Given the description of an element on the screen output the (x, y) to click on. 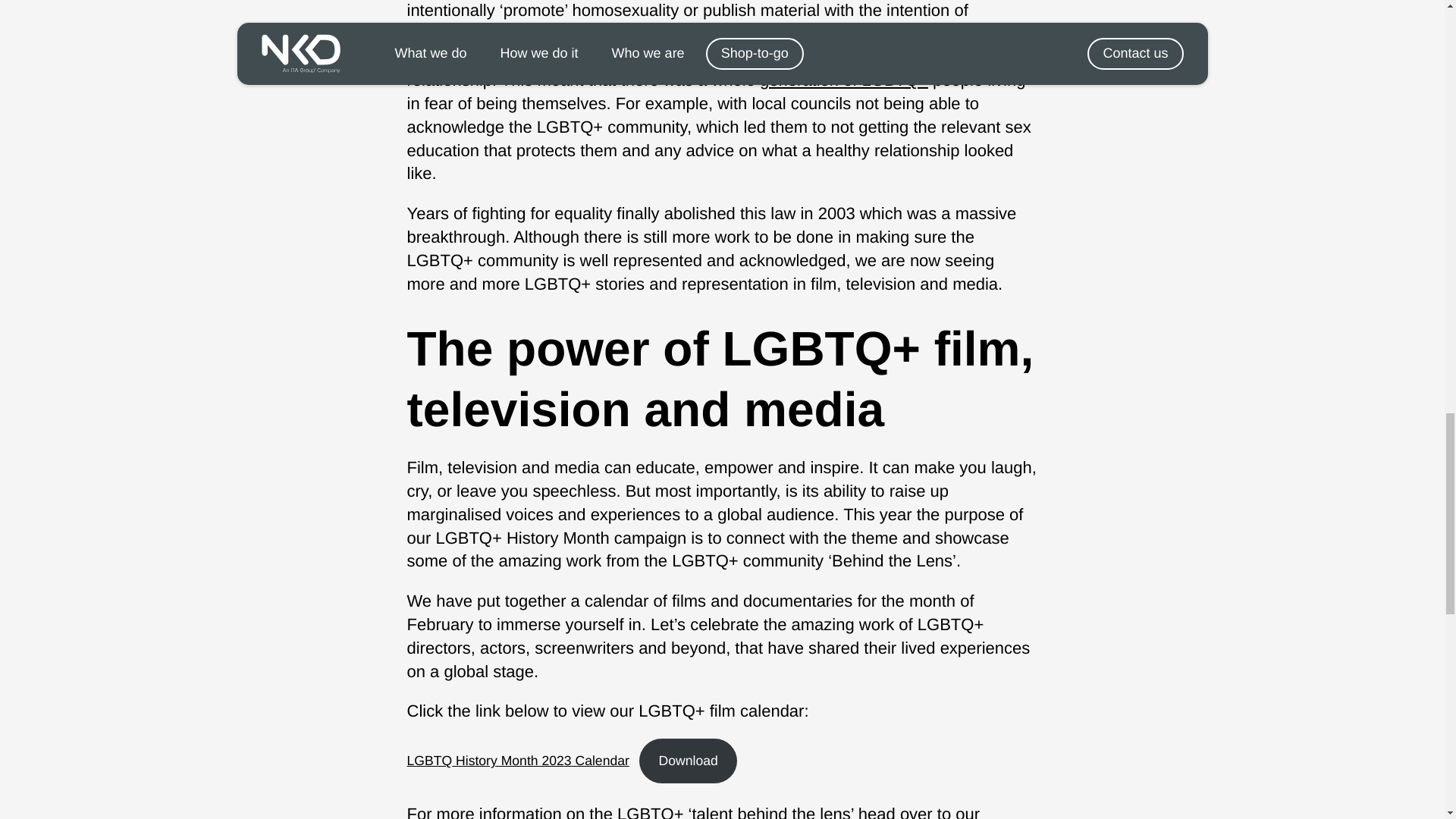
Download (687, 760)
LGBTQ History Month 2023 Calendar (517, 760)
